Given the description of an element on the screen output the (x, y) to click on. 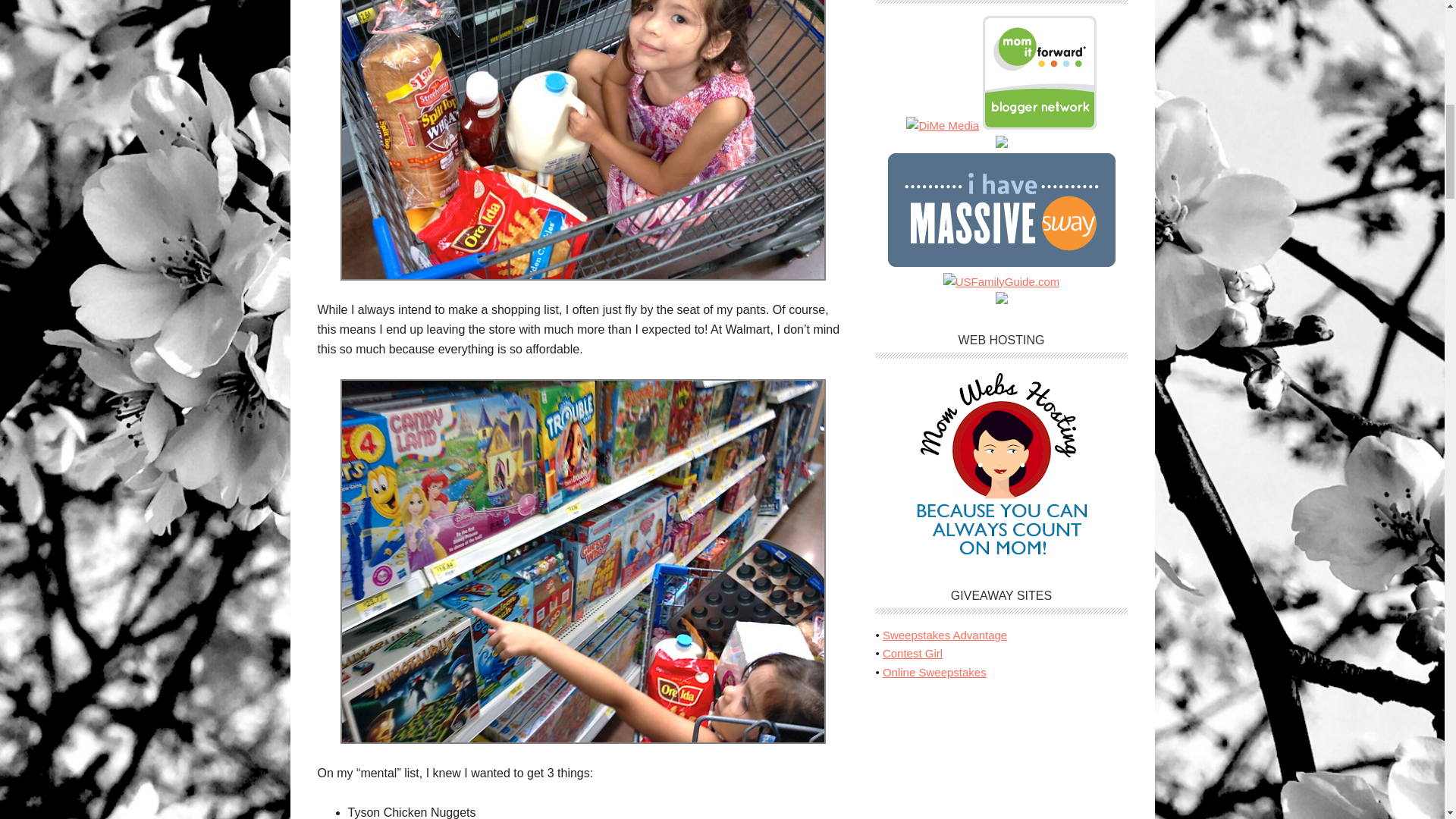
I Have Massive Sway (1000, 262)
